Given the description of an element on the screen output the (x, y) to click on. 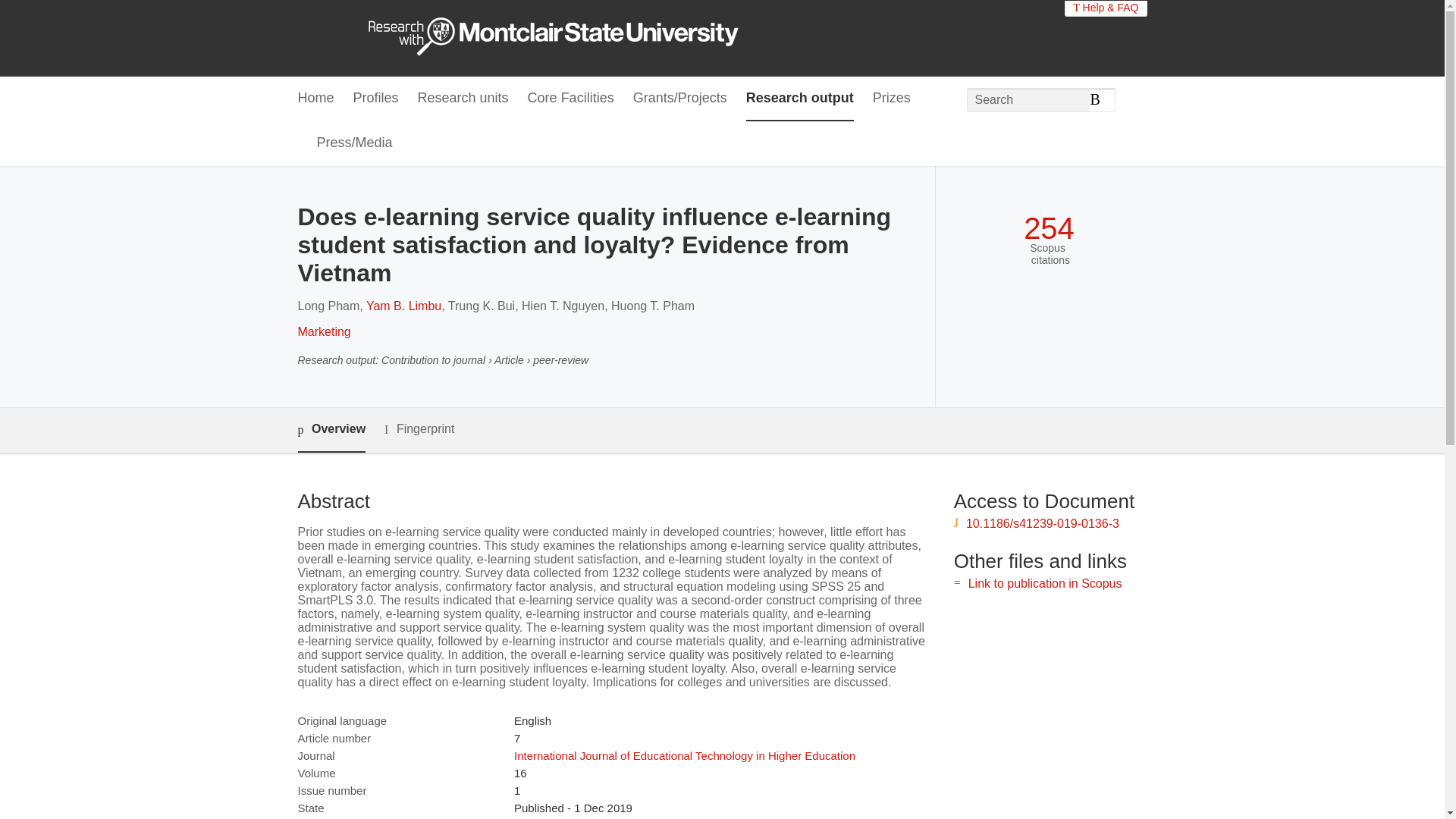
Overview (331, 429)
Montclair State University Home (567, 38)
Fingerprint (419, 429)
Core Facilities (570, 98)
Link to publication in Scopus (1045, 583)
Profiles (375, 98)
Marketing (323, 331)
254 (1048, 228)
